Given the description of an element on the screen output the (x, y) to click on. 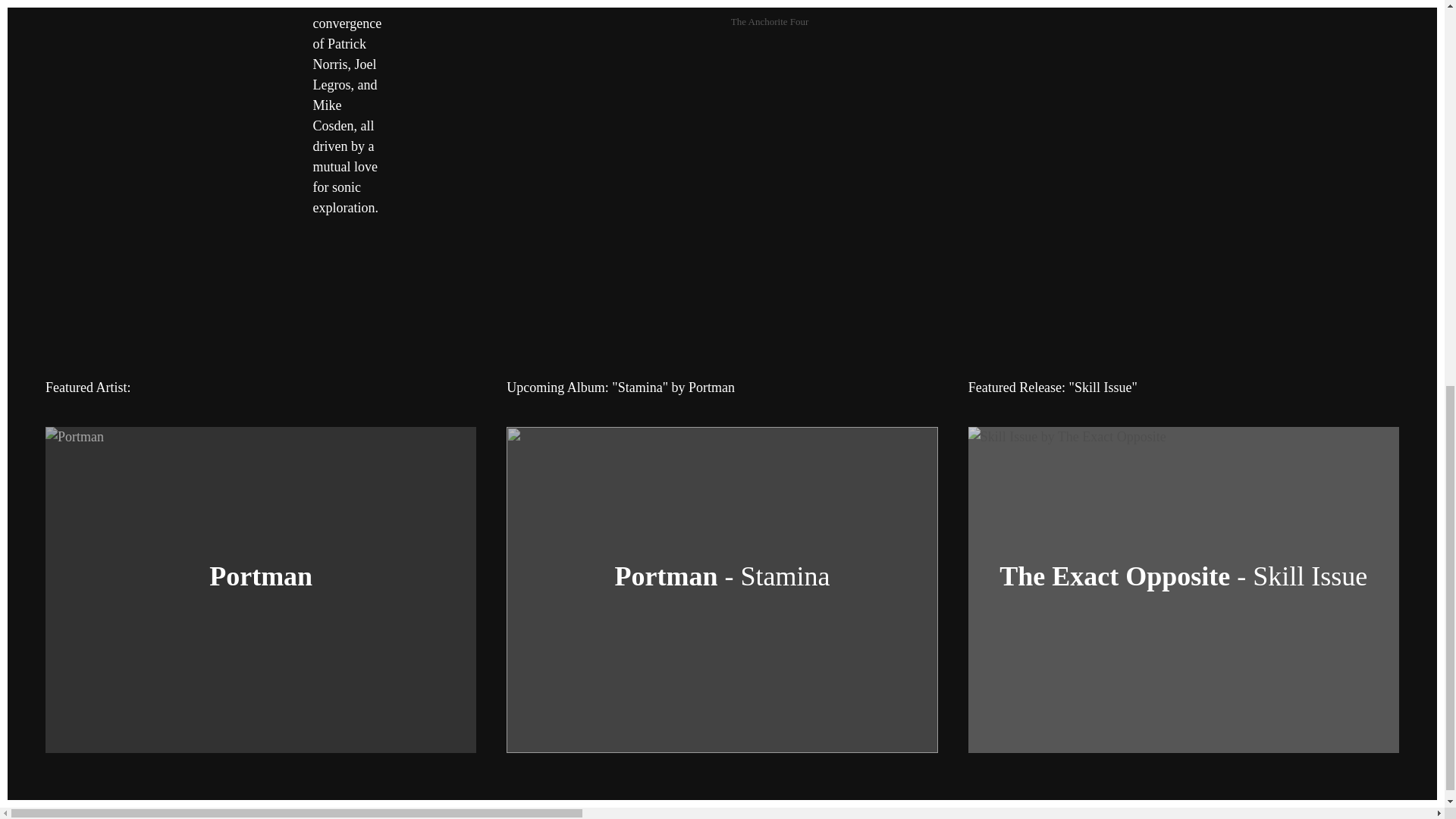
The Exact Opposite - Skill Issue (1182, 576)
Portman (261, 576)
Portman - Stamina (721, 576)
